Given the description of an element on the screen output the (x, y) to click on. 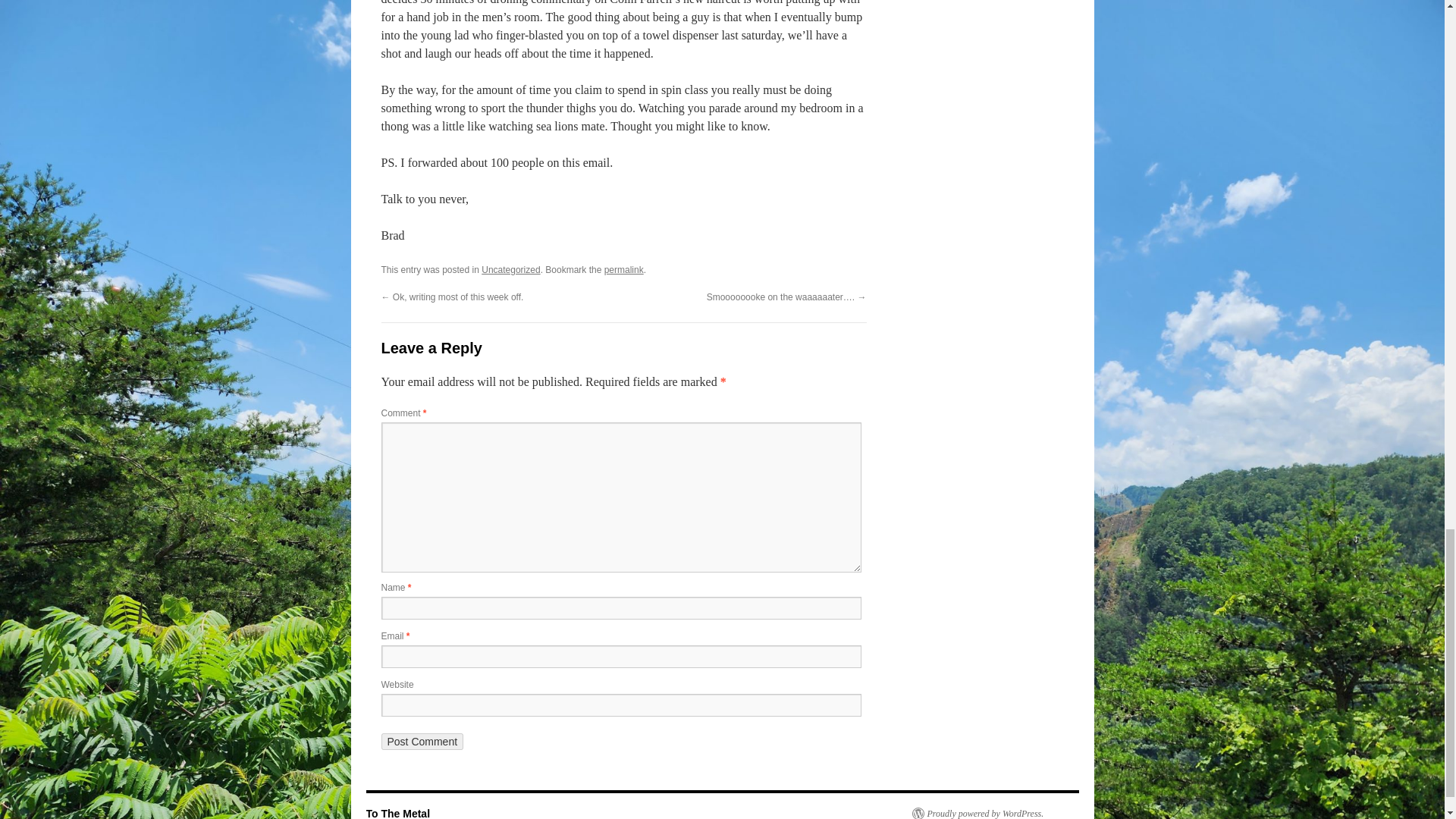
Post Comment (421, 741)
permalink (623, 269)
Post Comment (421, 741)
Uncategorized (510, 269)
